Given the description of an element on the screen output the (x, y) to click on. 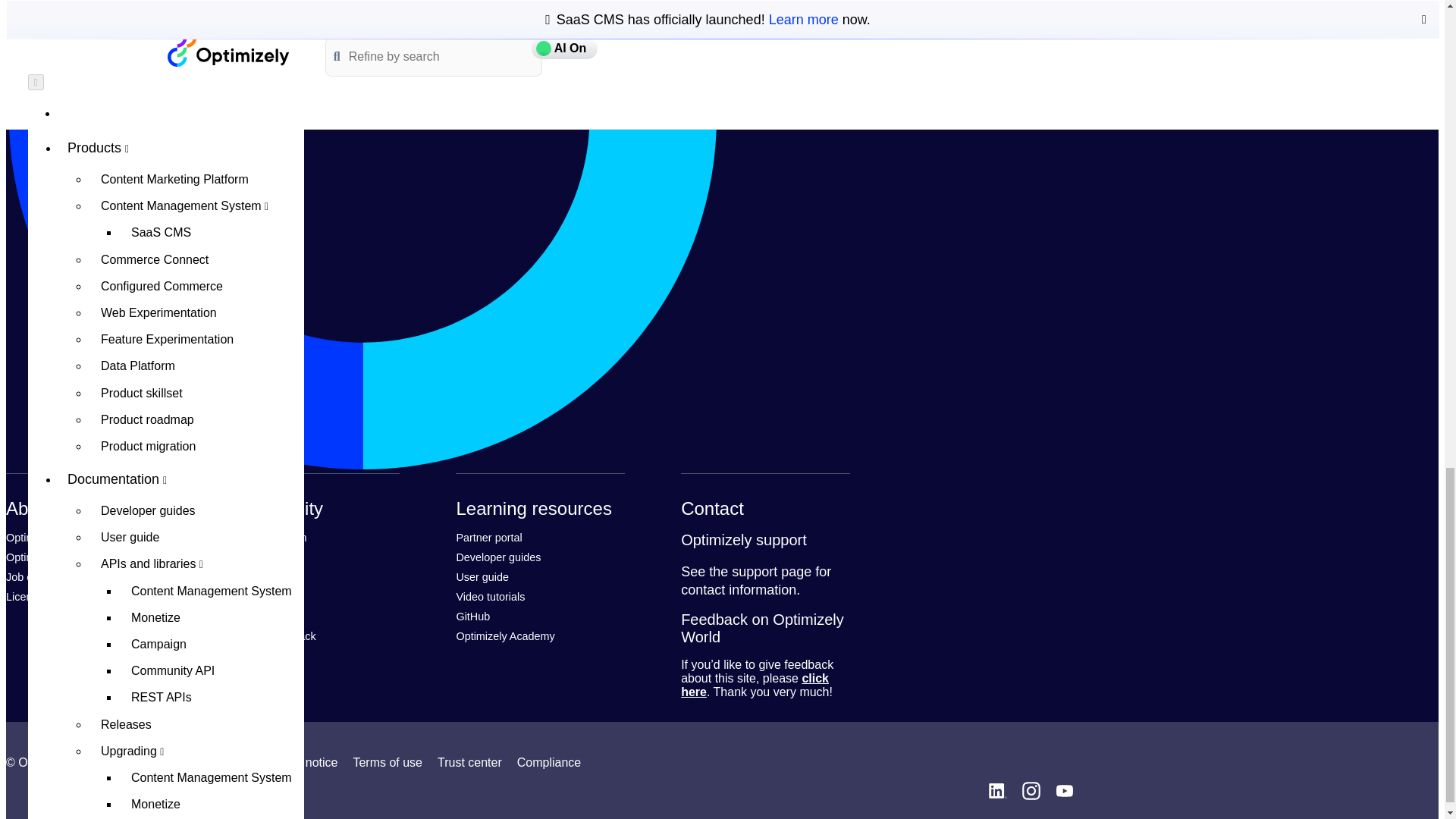
Optimizely Certification (60, 557)
Video tutorials (489, 596)
Blogs (245, 596)
Forums (249, 576)
Developer guides (497, 557)
Slack (244, 616)
Optimizely Support (771, 571)
Optimizely Education Services (504, 635)
Optimizely User Guide (481, 576)
Episerver on GitHub (472, 616)
OMVP program (269, 537)
Optimizely Partner Portal (488, 537)
Digital badges (196, 5)
Feedback (754, 684)
Job openings (38, 576)
